Given the description of an element on the screen output the (x, y) to click on. 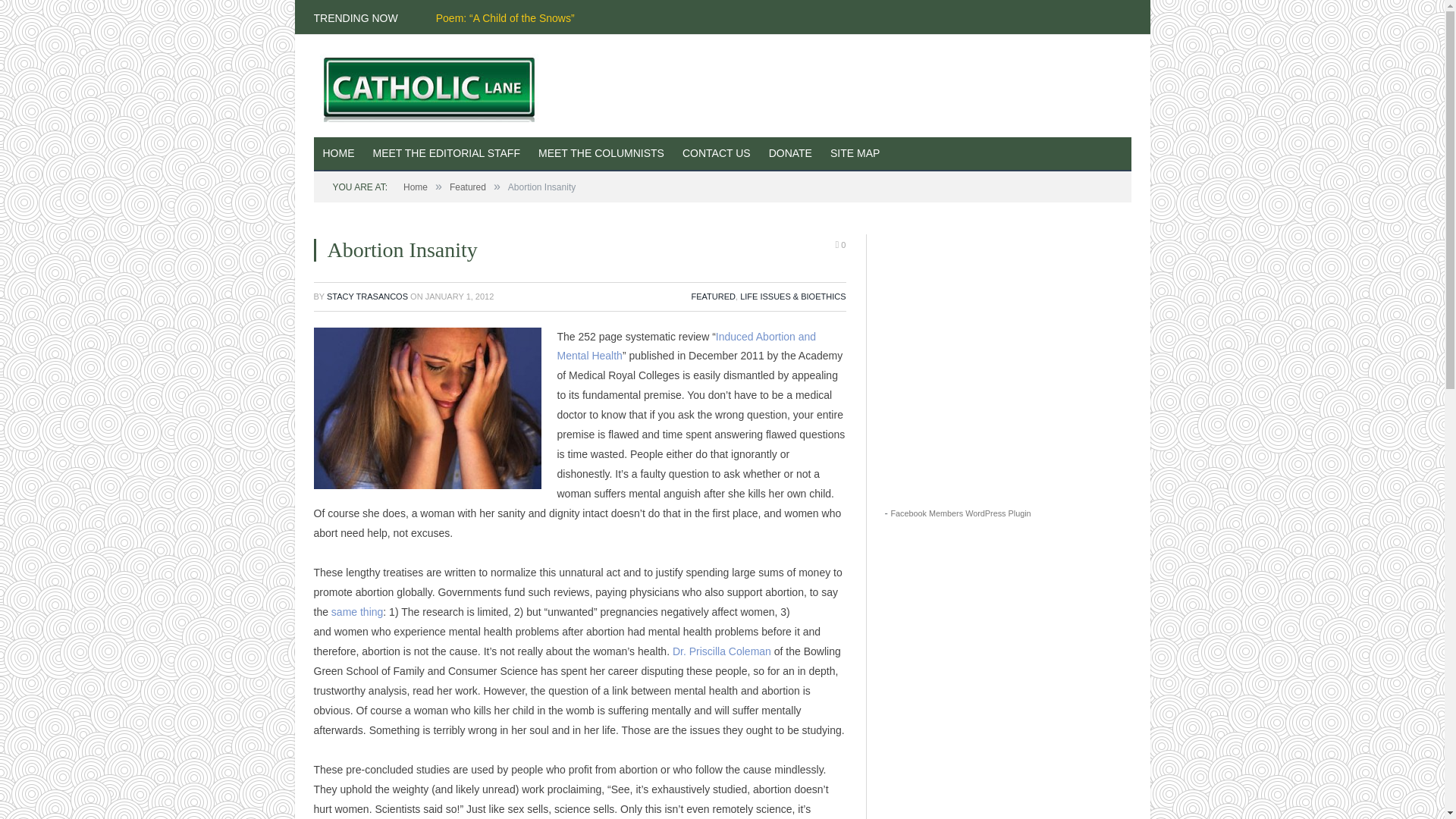
Home (415, 186)
CONTACT US (716, 154)
Featured (467, 186)
same thing (356, 612)
SITE MAP (854, 154)
HOME (339, 154)
STACY TRASANCOS (366, 296)
Columnists (600, 154)
MEET THE EDITORIAL STAFF (446, 154)
Posts by Stacy Trasancos (366, 296)
